Given the description of an element on the screen output the (x, y) to click on. 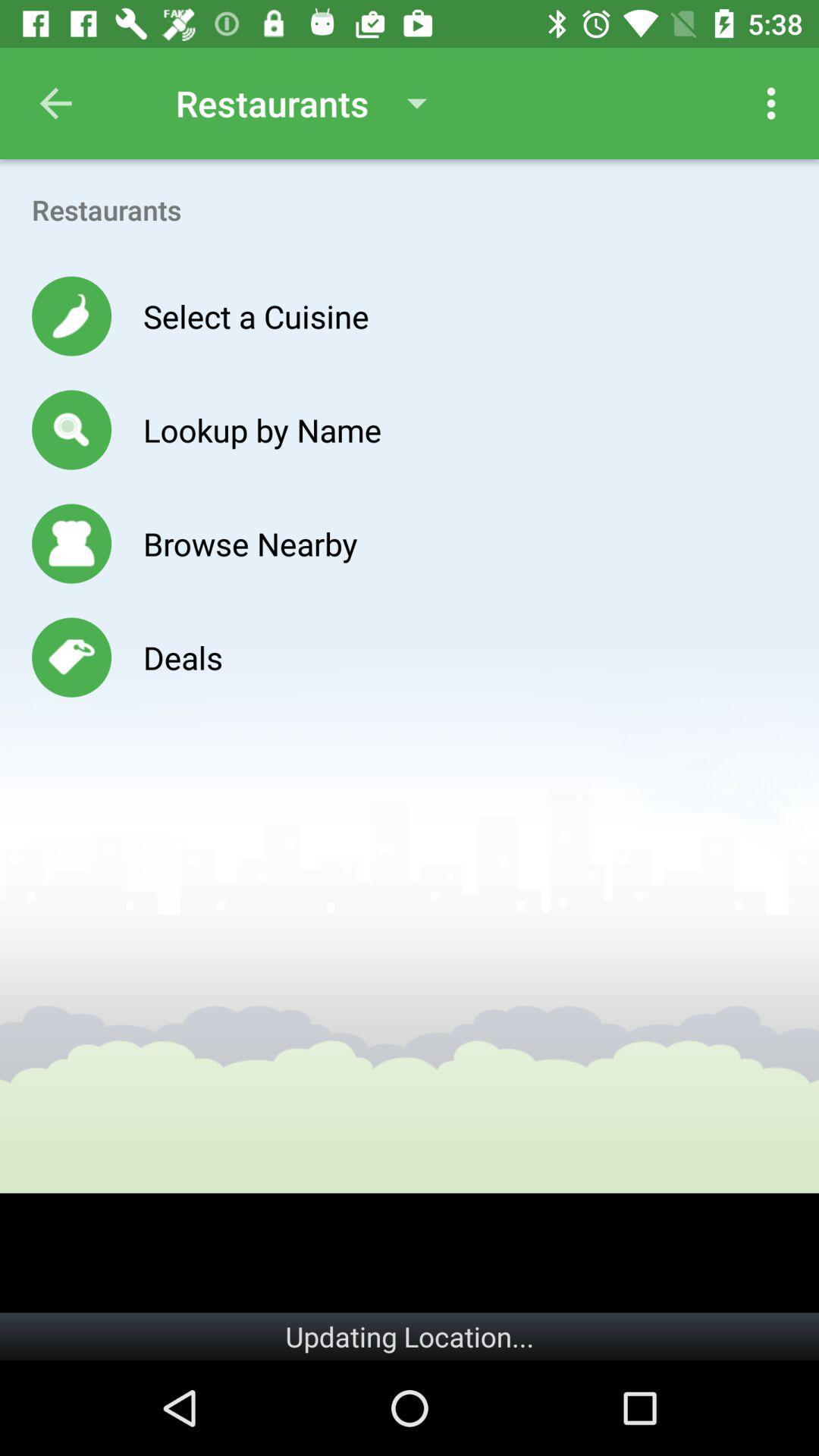
press the icon above the restaurants item (771, 103)
